Given the description of an element on the screen output the (x, y) to click on. 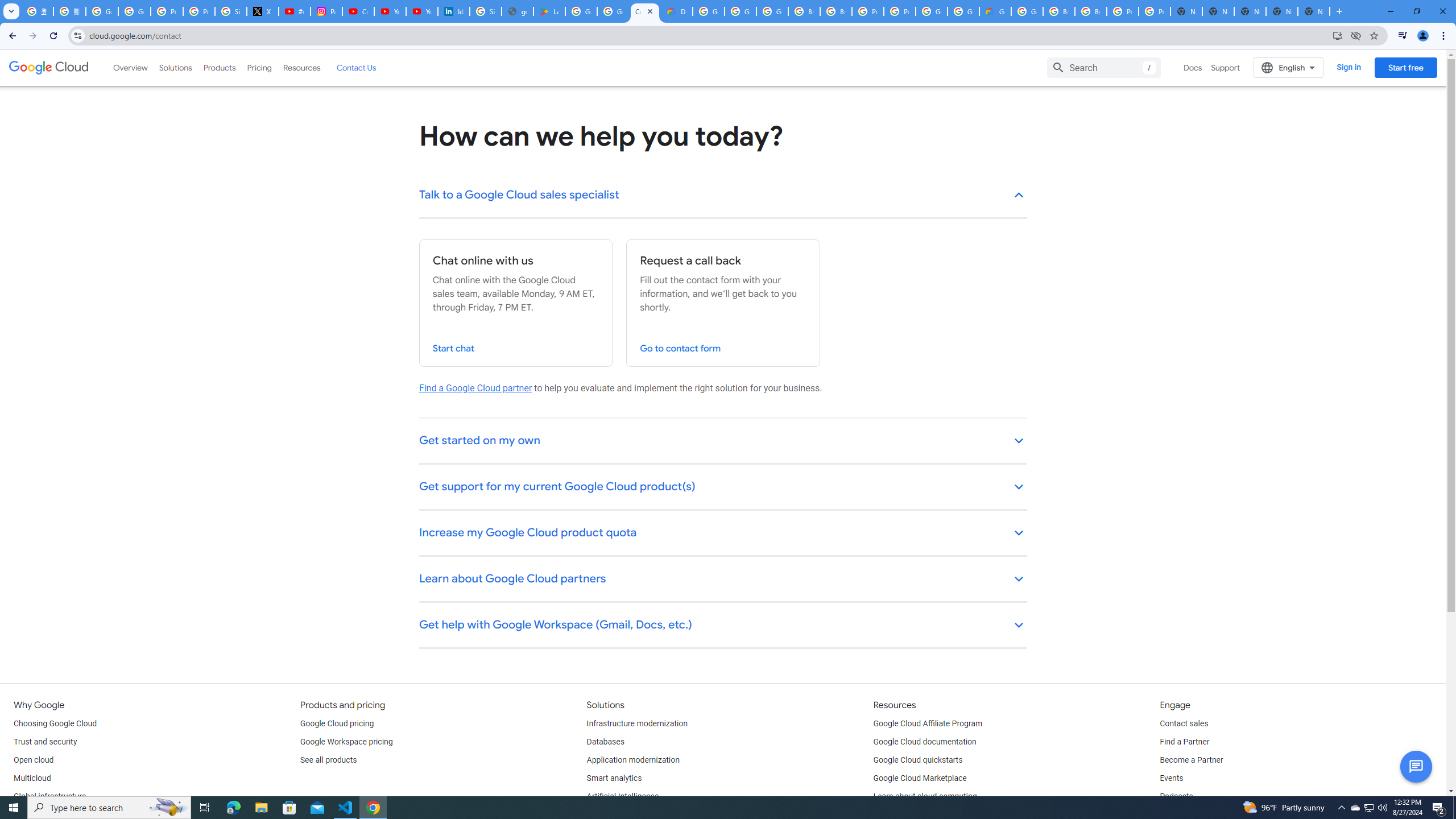
Button to activate chat (1416, 766)
Bookmark this tab (1373, 35)
Multicloud (31, 778)
Contact sales (1183, 723)
Restore (1416, 11)
Google Cloud Estimate Summary (995, 11)
Search tabs (10, 11)
Chrome (1445, 35)
